Given the description of an element on the screen output the (x, y) to click on. 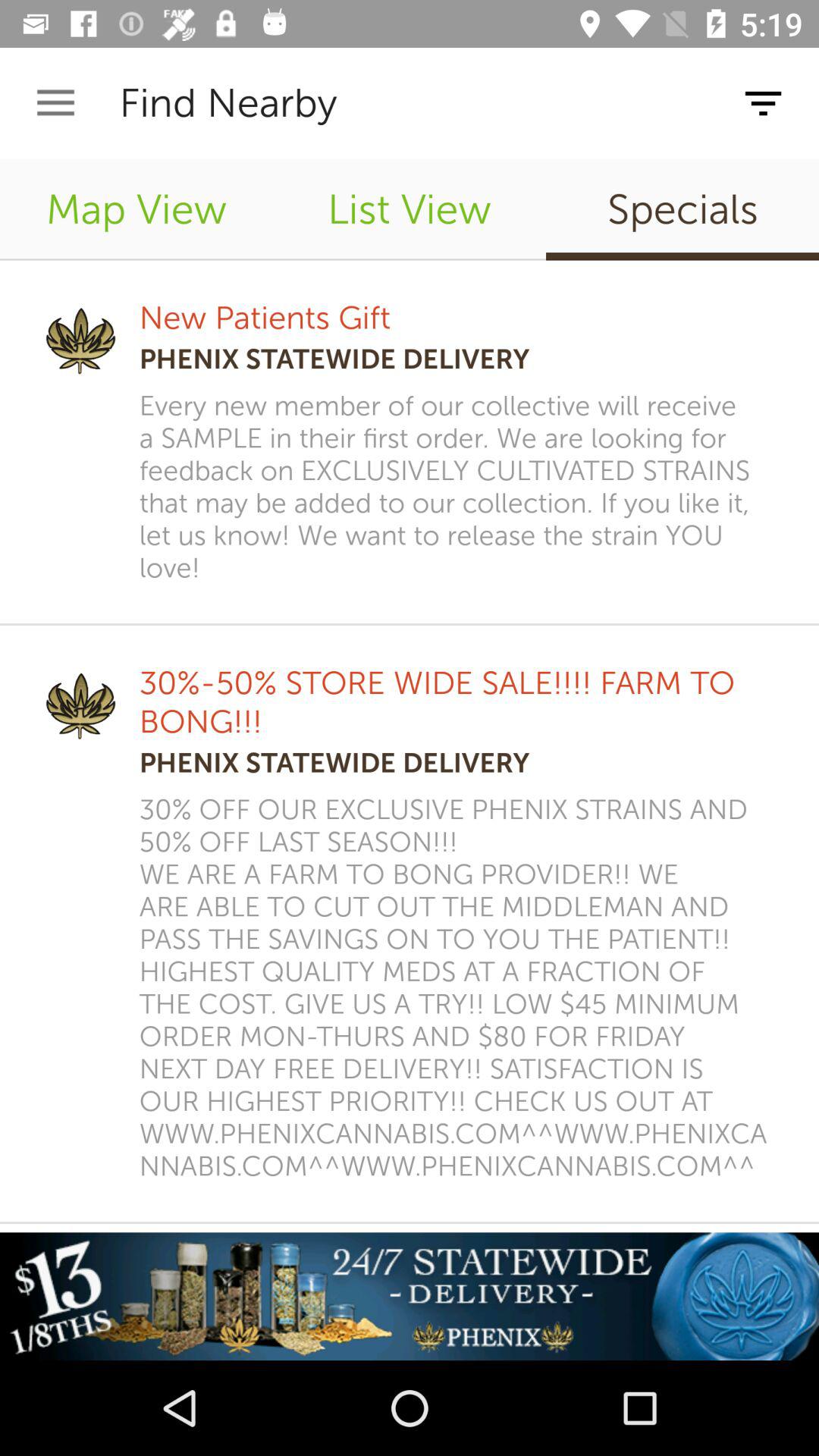
tap the app next to the find nearby app (55, 103)
